Given the description of an element on the screen output the (x, y) to click on. 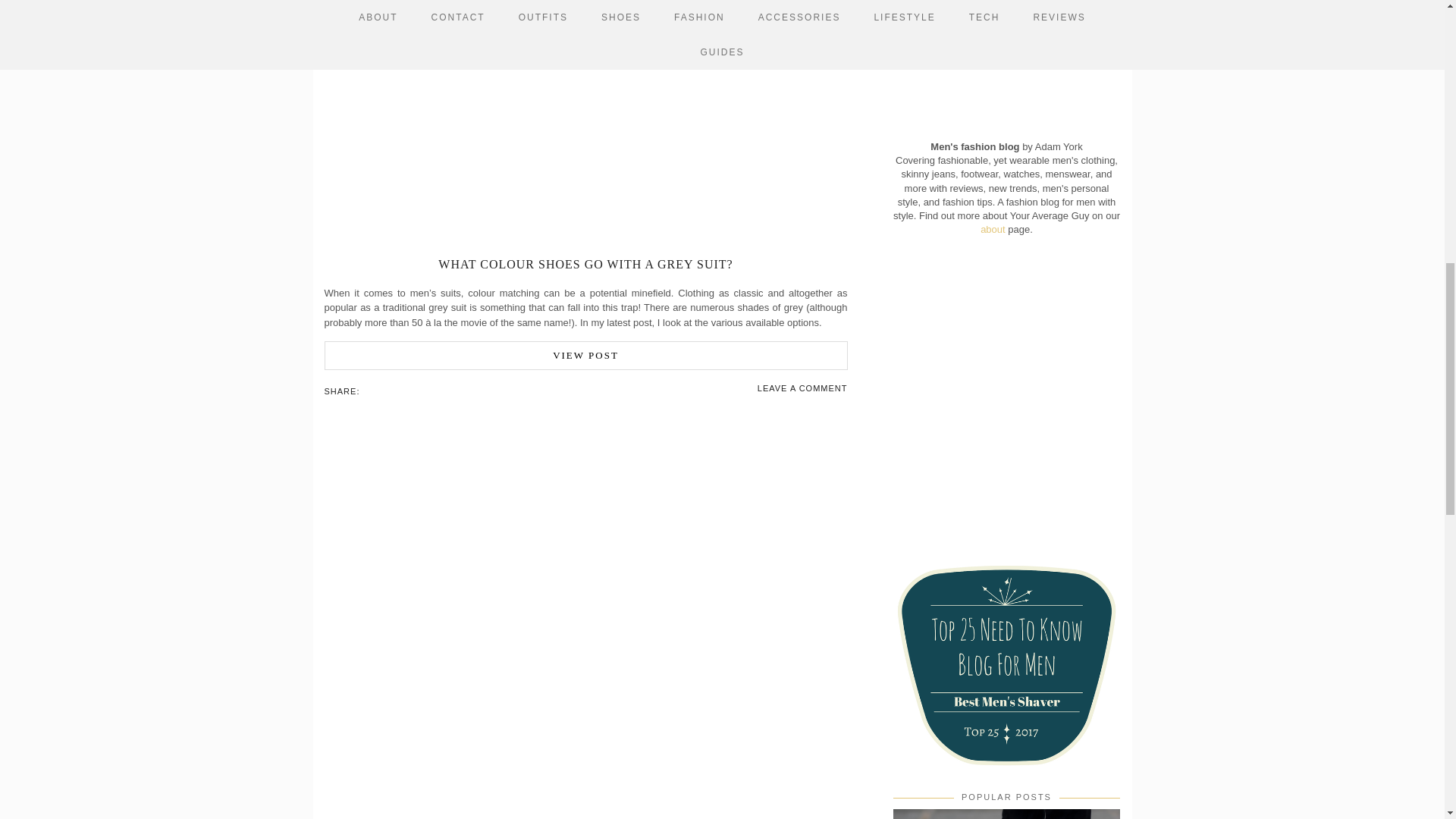
LEAVE A COMMENT (802, 388)
about (992, 229)
VIEW POST (585, 355)
